Given the description of an element on the screen output the (x, y) to click on. 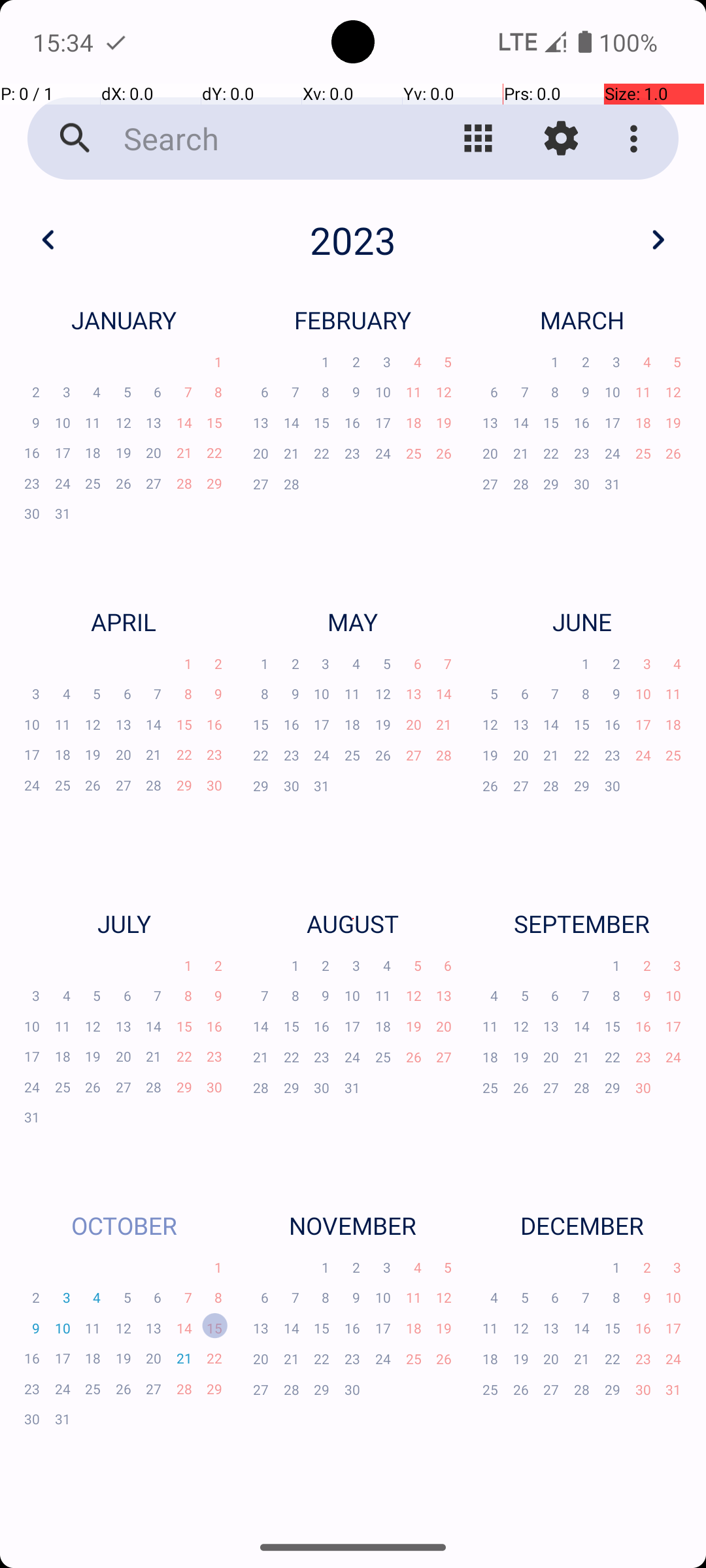
JANUARY Element type: android.widget.TextView (123, 319)
FEBRUARY Element type: android.widget.TextView (352, 319)
MARCH Element type: android.widget.TextView (582, 319)
APRIL Element type: android.widget.TextView (123, 621)
MAY Element type: android.widget.TextView (352, 621)
JUNE Element type: android.widget.TextView (582, 621)
JULY Element type: android.widget.TextView (123, 923)
AUGUST Element type: android.widget.TextView (352, 923)
SEPTEMBER Element type: android.widget.TextView (582, 923)
NOVEMBER Element type: android.widget.TextView (352, 1224)
DECEMBER Element type: android.widget.TextView (582, 1224)
